Given the description of an element on the screen output the (x, y) to click on. 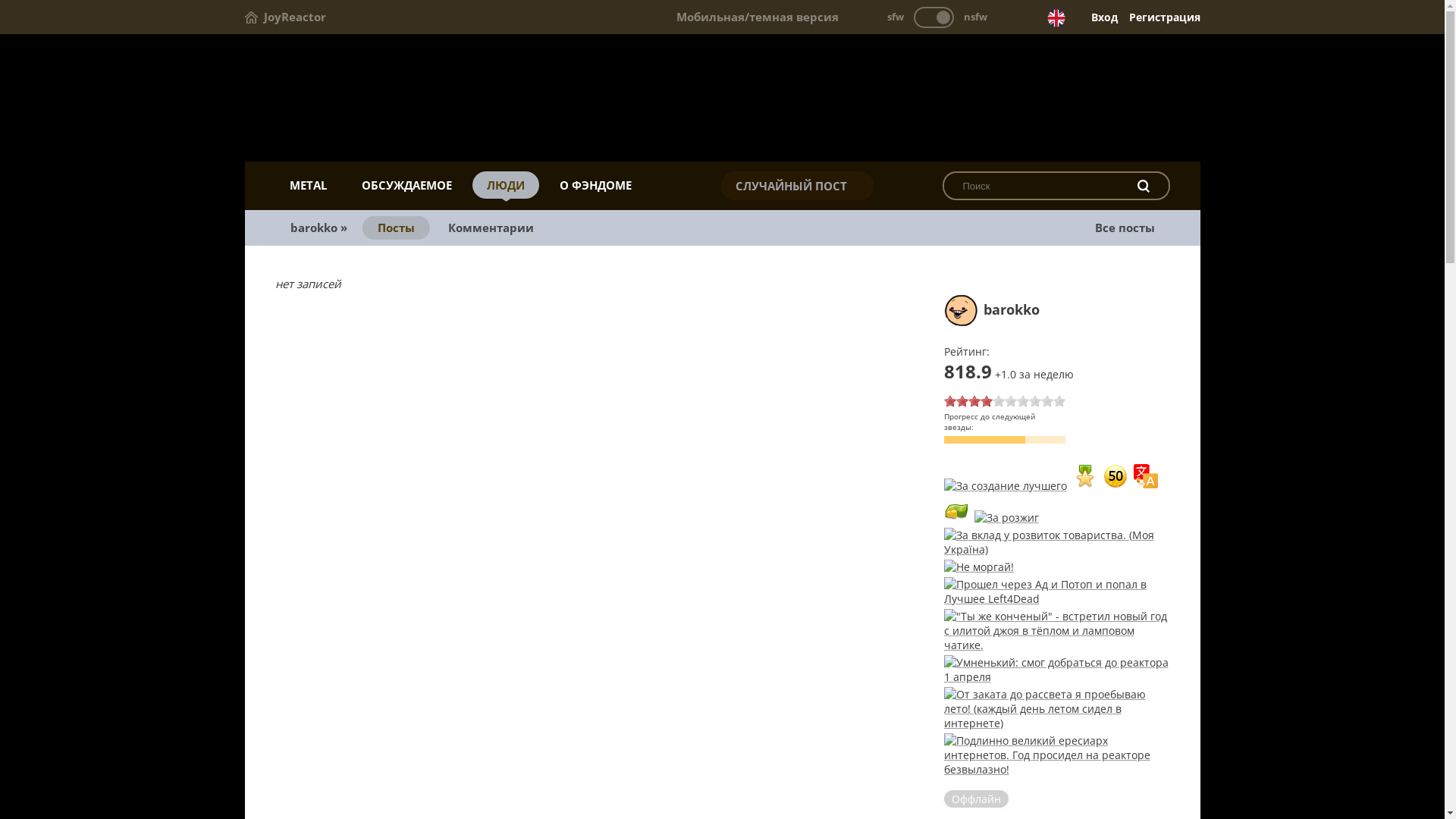
Metal Element type: text (721, 98)
METAL Element type: text (307, 184)
English version Element type: hover (1055, 18)
JoyReactor Element type: text (284, 17)
